Given the description of an element on the screen output the (x, y) to click on. 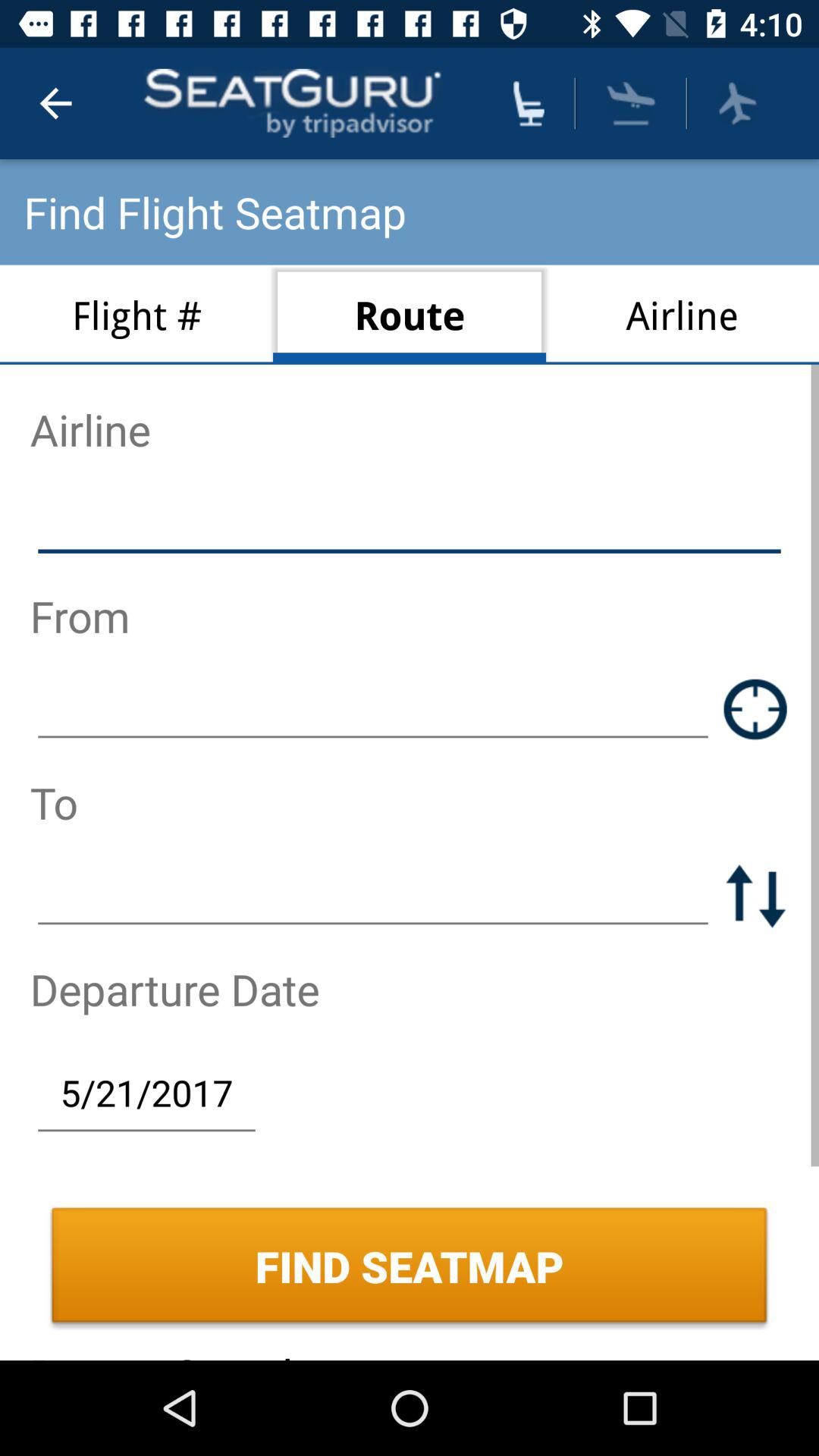
enter departutre location (373, 708)
